Given the description of an element on the screen output the (x, y) to click on. 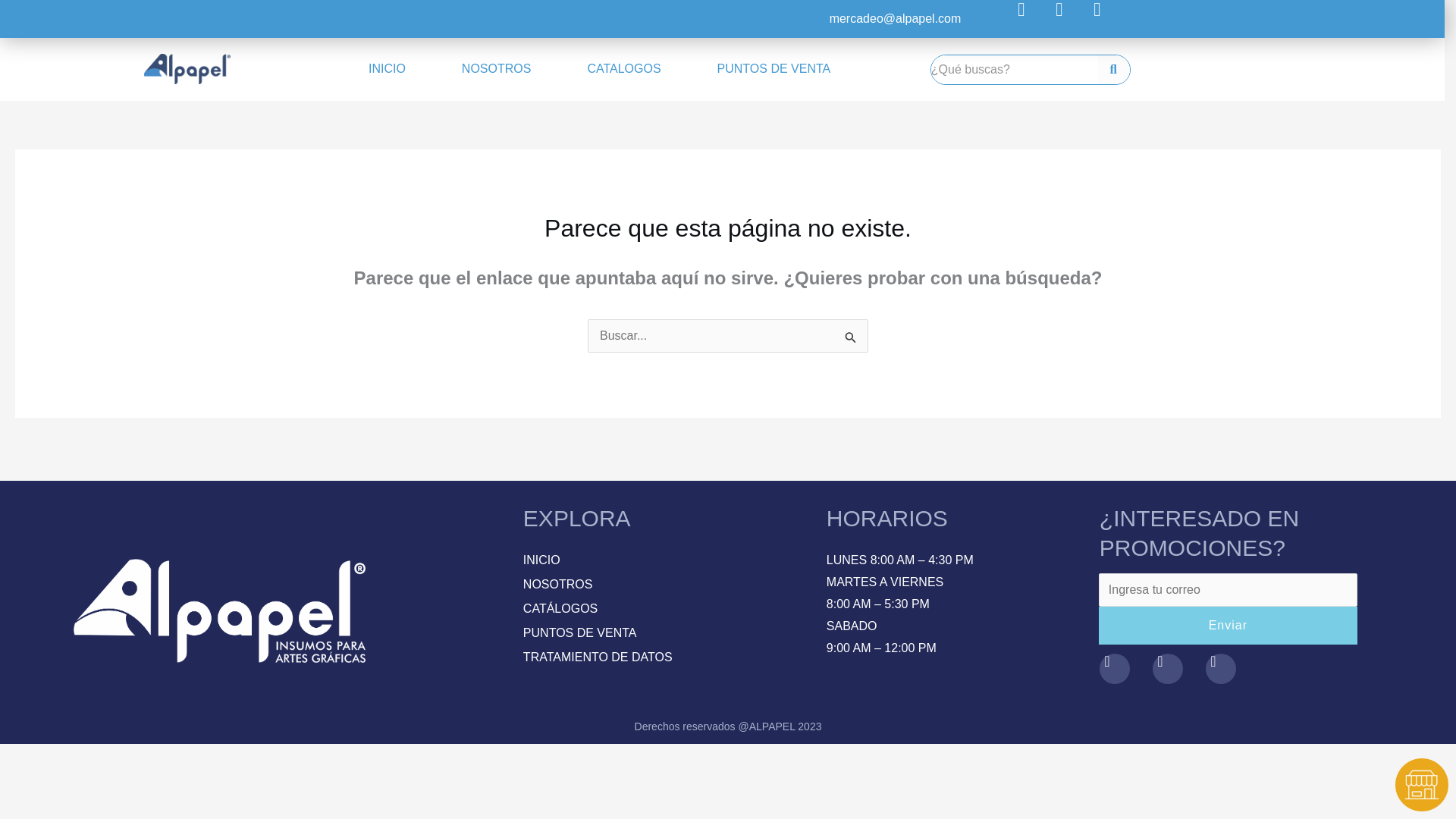
Whatsapp (1106, 18)
PUNTOS DE VENTA (773, 68)
NOSOTROS (496, 68)
INICIO (386, 68)
Instagram (1068, 18)
Facebook (1030, 18)
CATALOGOS (623, 68)
Buscar (1014, 69)
